Given the description of an element on the screen output the (x, y) to click on. 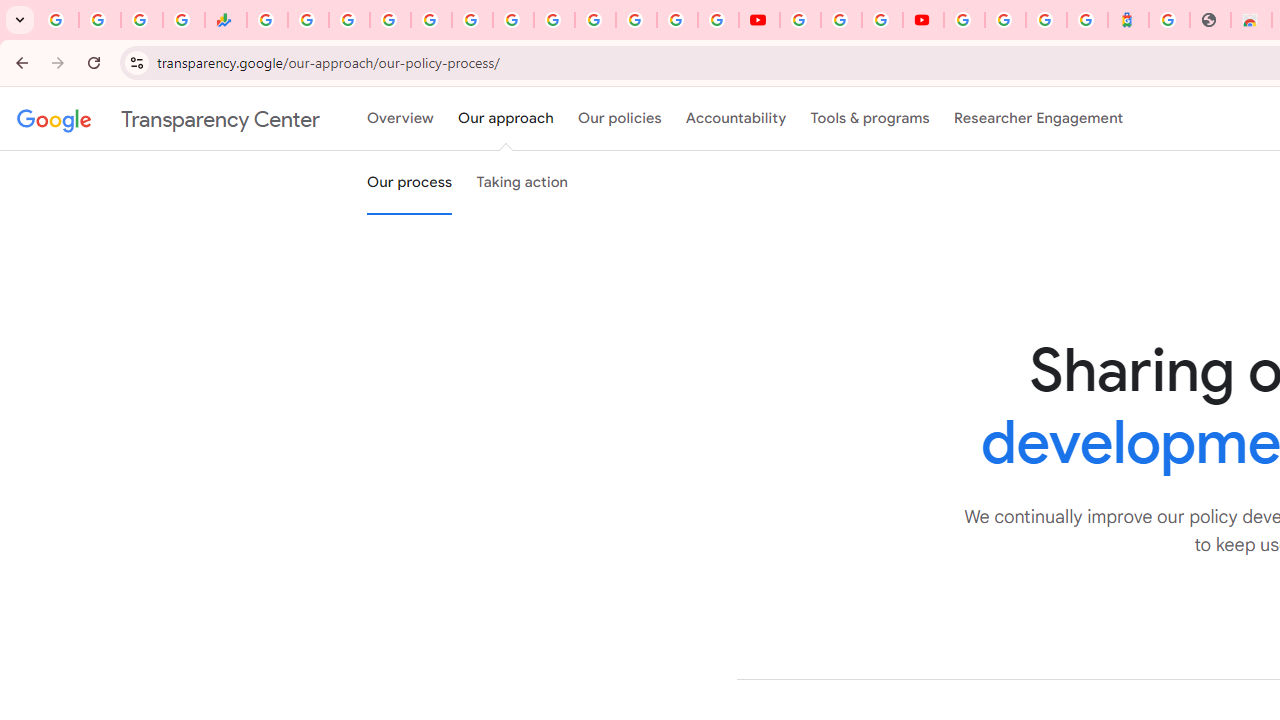
Our approach (506, 119)
Content Creator Programs & Opportunities - YouTube Creators (923, 20)
Taking action (522, 183)
Researcher Engagement (1038, 119)
Sign in - Google Accounts (964, 20)
Our policies (619, 119)
Sign in - Google Accounts (594, 20)
Accountability (735, 119)
